Given the description of an element on the screen output the (x, y) to click on. 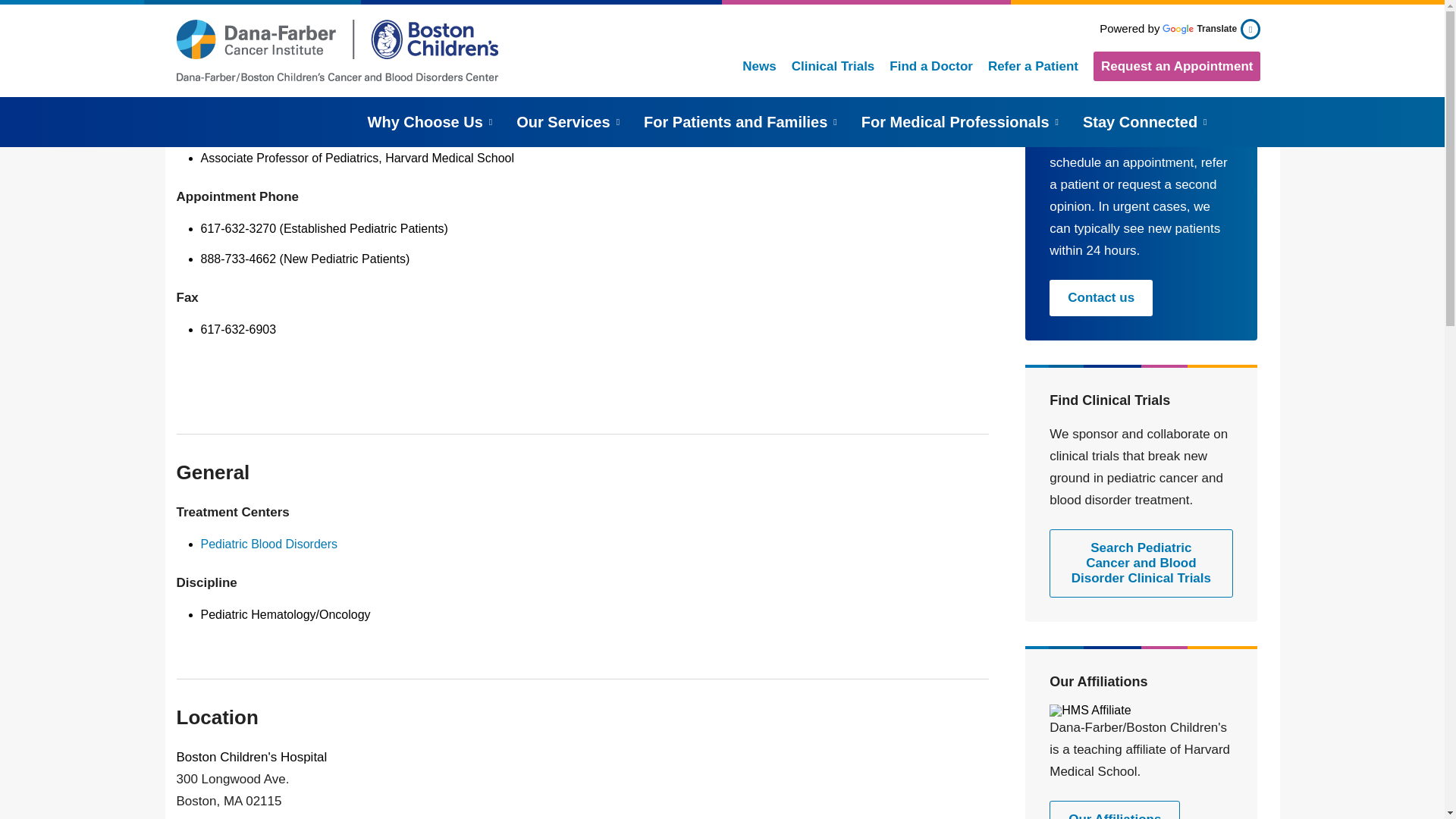
Search Pediatric Cancer and Blood Disorder Clinical Trials (1140, 563)
Info (1252, 29)
Our Affiliations (1114, 809)
Search (1237, 118)
Home (349, 50)
Contact us (1101, 298)
